Given the description of an element on the screen output the (x, y) to click on. 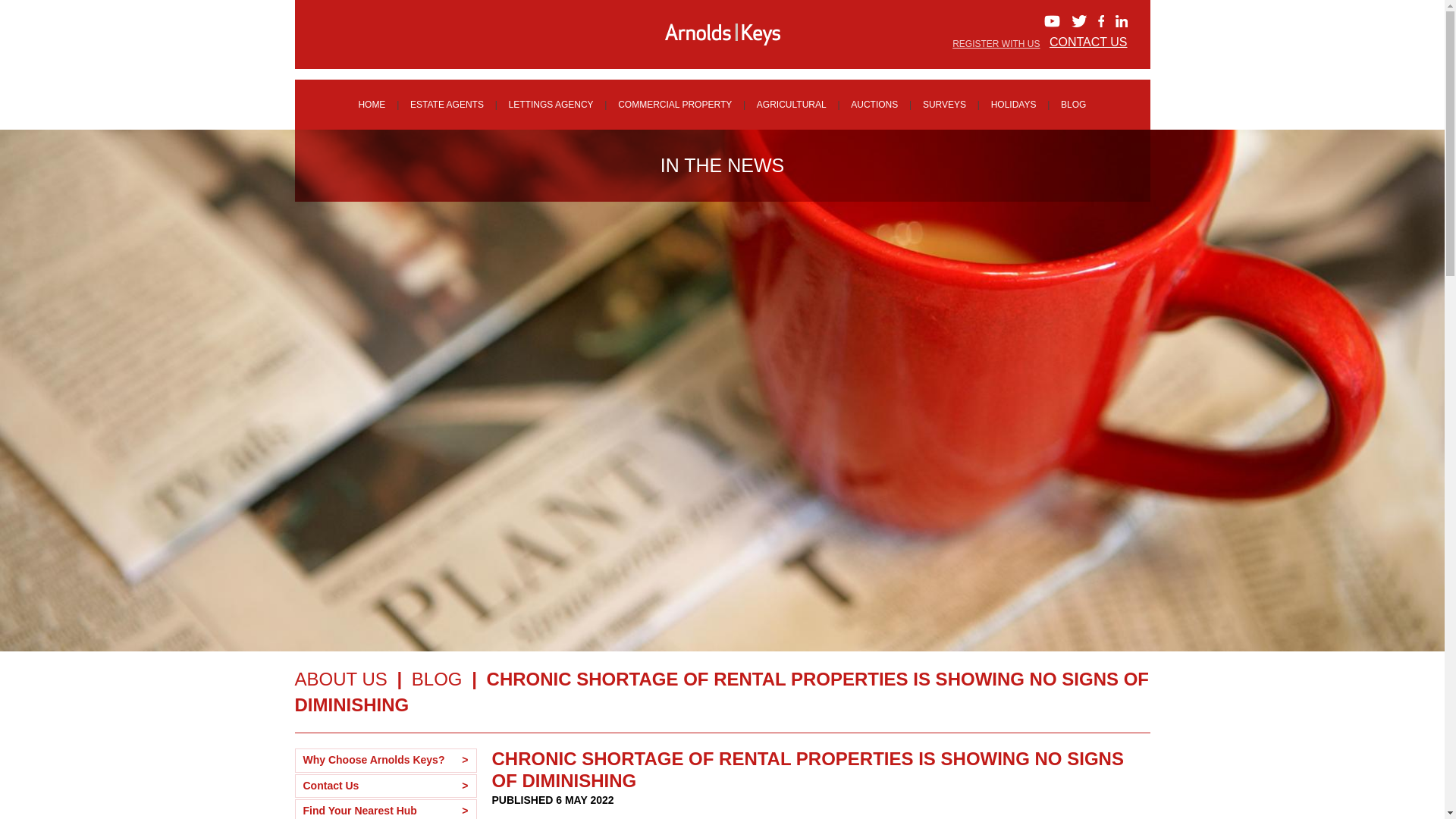
REGISTER WITH US (995, 43)
YouTube (1051, 21)
ESTATE AGENTS (446, 104)
Arnolds Keys (722, 34)
LinkedIn (1120, 21)
LETTINGS AGENCY (550, 104)
CONTACT US (1087, 42)
HOME (370, 104)
COMMERCIAL PROPERTY (674, 104)
Twitter (1078, 21)
